Given the description of an element on the screen output the (x, y) to click on. 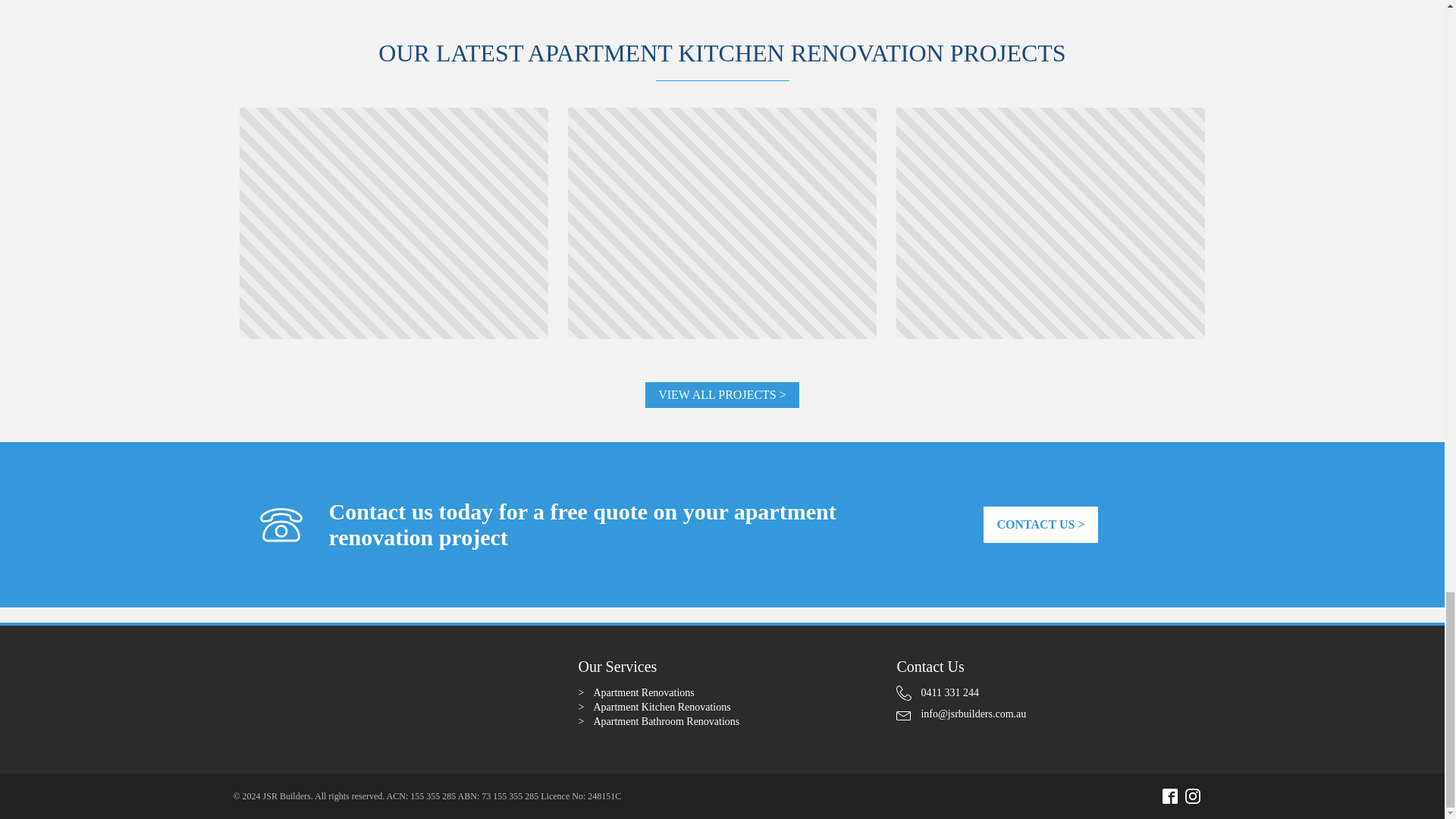
0411 331 244 (937, 693)
Apartment Kitchen Renovations (661, 706)
Apartment Renovations (643, 692)
Apartment Bathroom Renovations (665, 721)
